Given the description of an element on the screen output the (x, y) to click on. 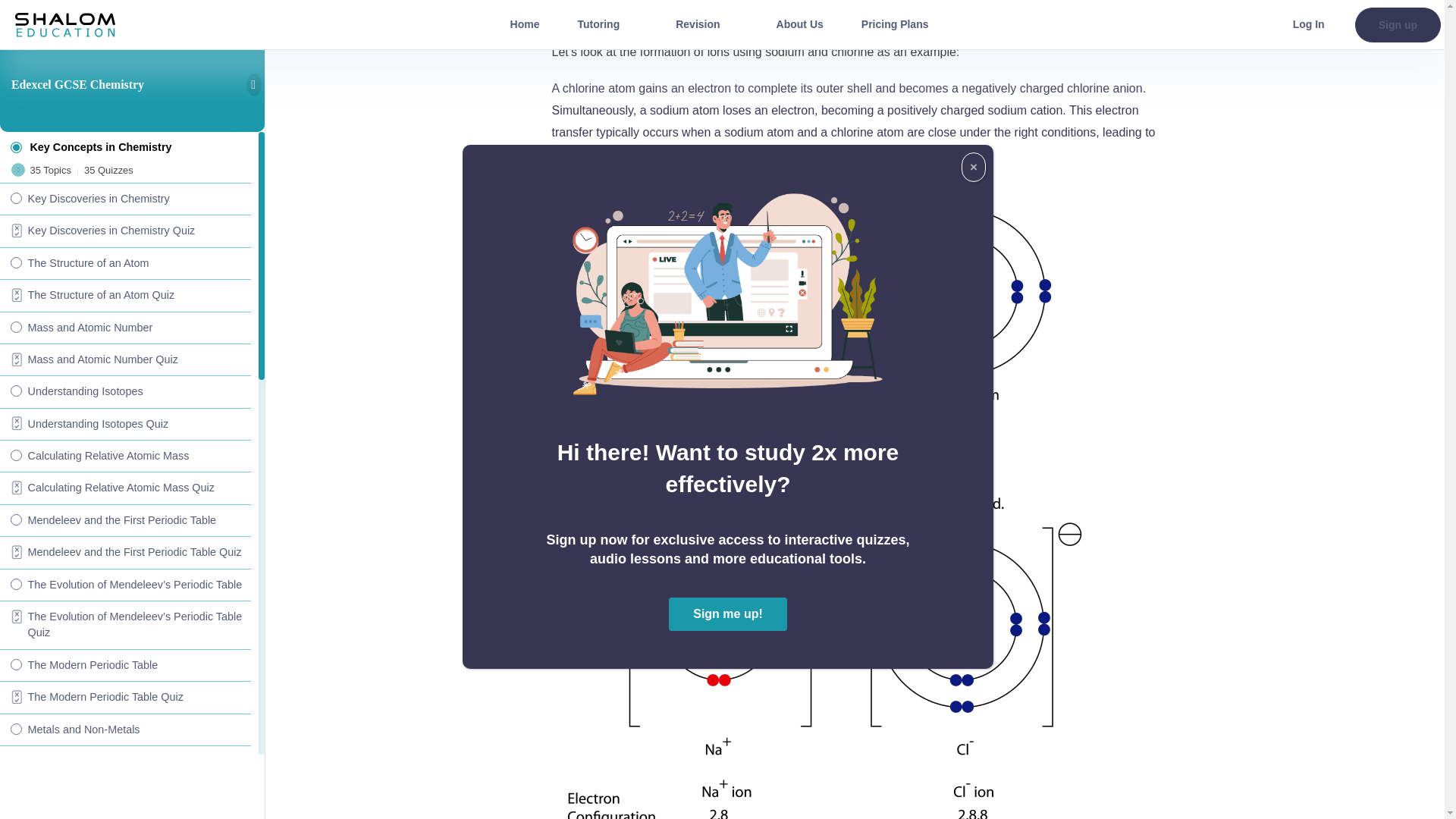
Understanding Ions (125, 38)
Ionic Bond Formation Quiz (125, 199)
Covalent Bond Formation Quiz (125, 391)
Ionic Bond Formation (125, 167)
Naming Ions Quiz (125, 327)
Predicting Electron Configurations Quiz (125, 11)
Ionic Compounds Quiz (125, 264)
Formation of Ions Quiz (125, 134)
Formation of Ions (125, 102)
The Sizes of Atoms and Molecules (125, 424)
Naming Ions (125, 296)
Understanding Ions Quiz (125, 70)
Covalent Bond Formation (125, 359)
Ionic Compounds (125, 231)
